Given the description of an element on the screen output the (x, y) to click on. 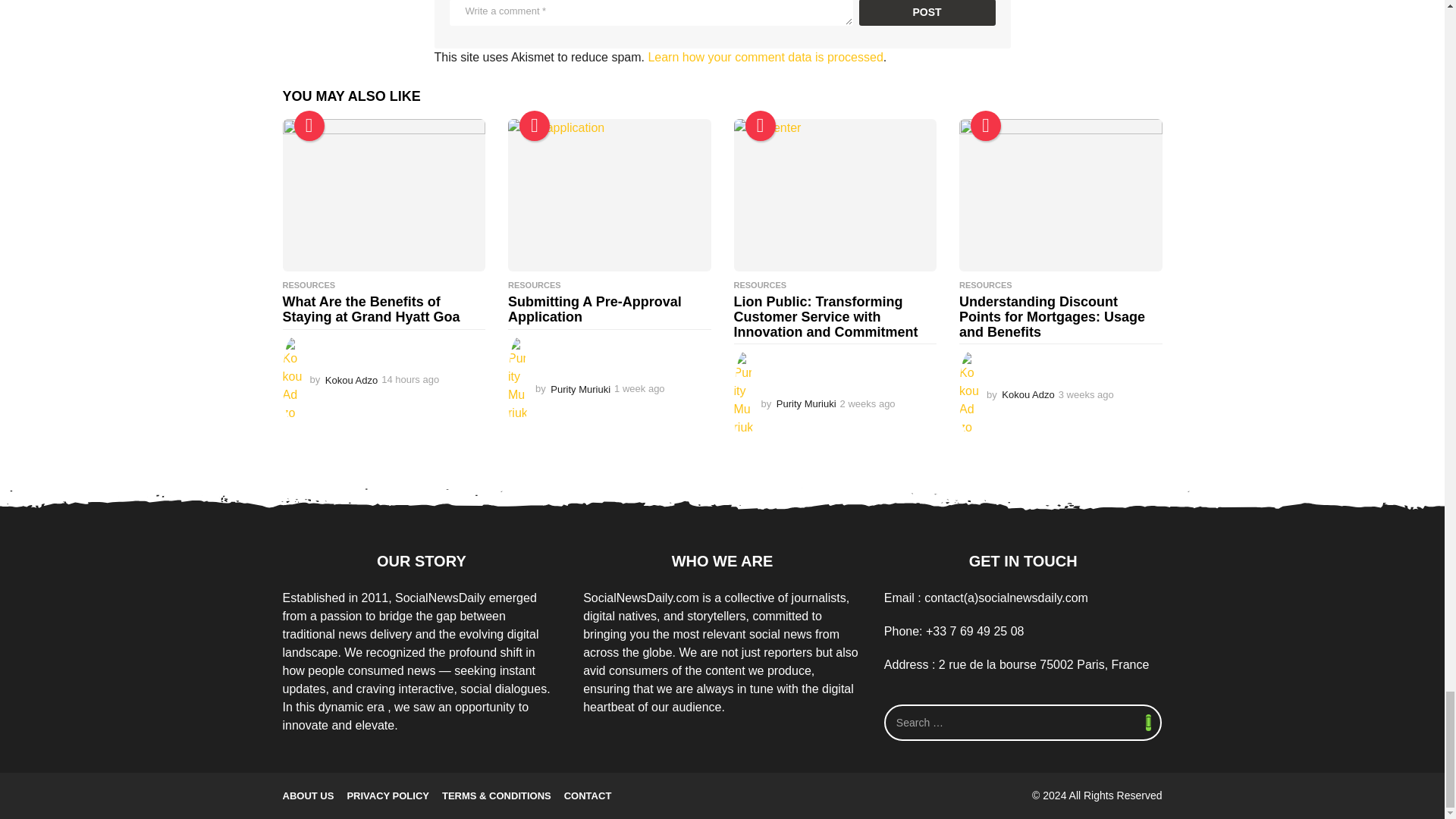
Hot (759, 125)
Trending (309, 125)
Hot (534, 125)
Popular (986, 125)
Submitting A Pre-Approval Application (609, 194)
What Are the Benefits of Staying at Grand Hyatt Goa (383, 194)
Post (926, 12)
